Given the description of an element on the screen output the (x, y) to click on. 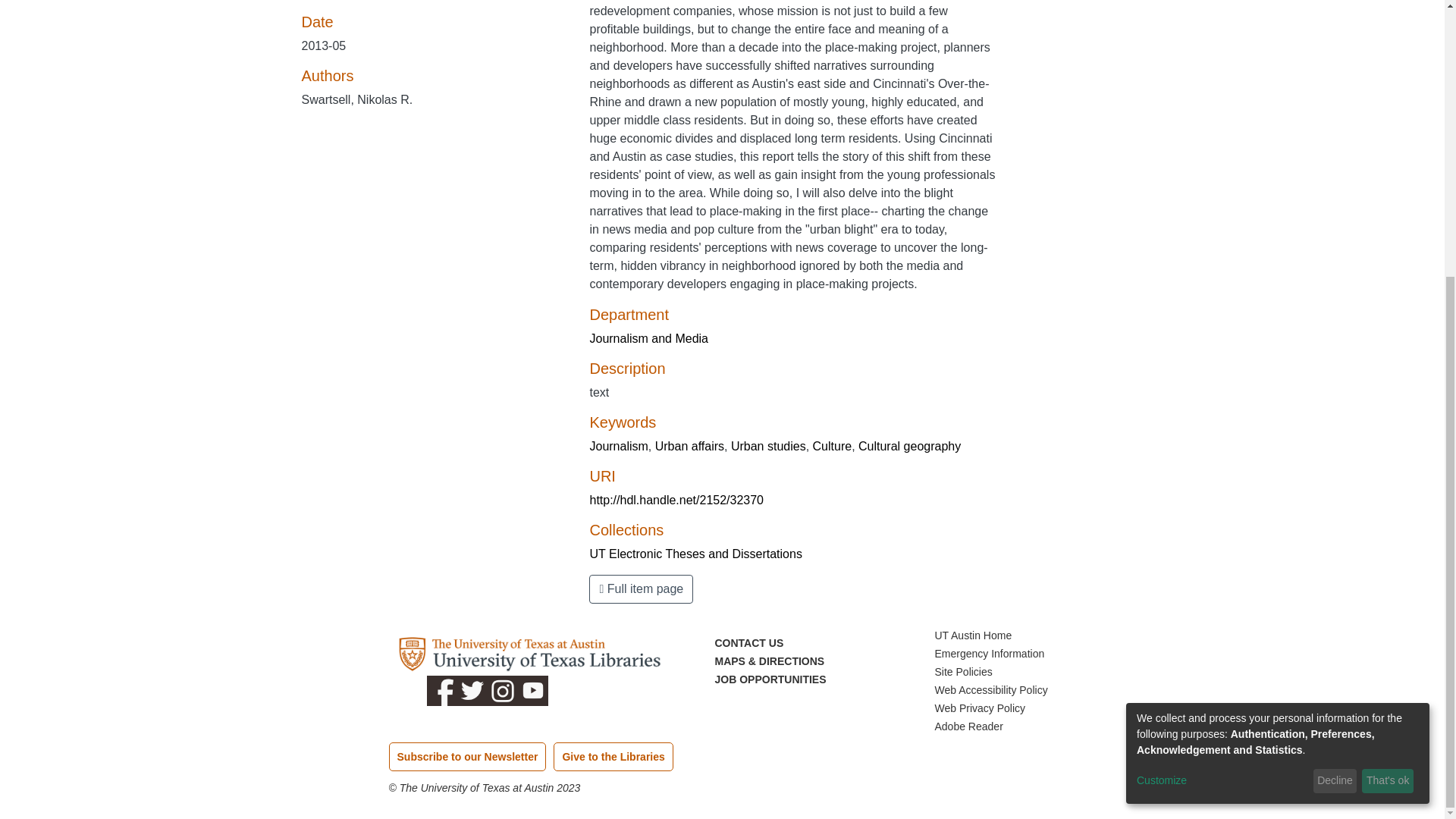
Cultural geography (909, 445)
Urban studies (768, 445)
CONTACT US (748, 643)
Culture (831, 445)
Journalism and Media (648, 338)
JOB OPPORTUNITIES (769, 679)
Full item page (641, 588)
Urban affairs (689, 445)
UT Electronic Theses and Dissertations (695, 553)
Journalism (618, 445)
